Given the description of an element on the screen output the (x, y) to click on. 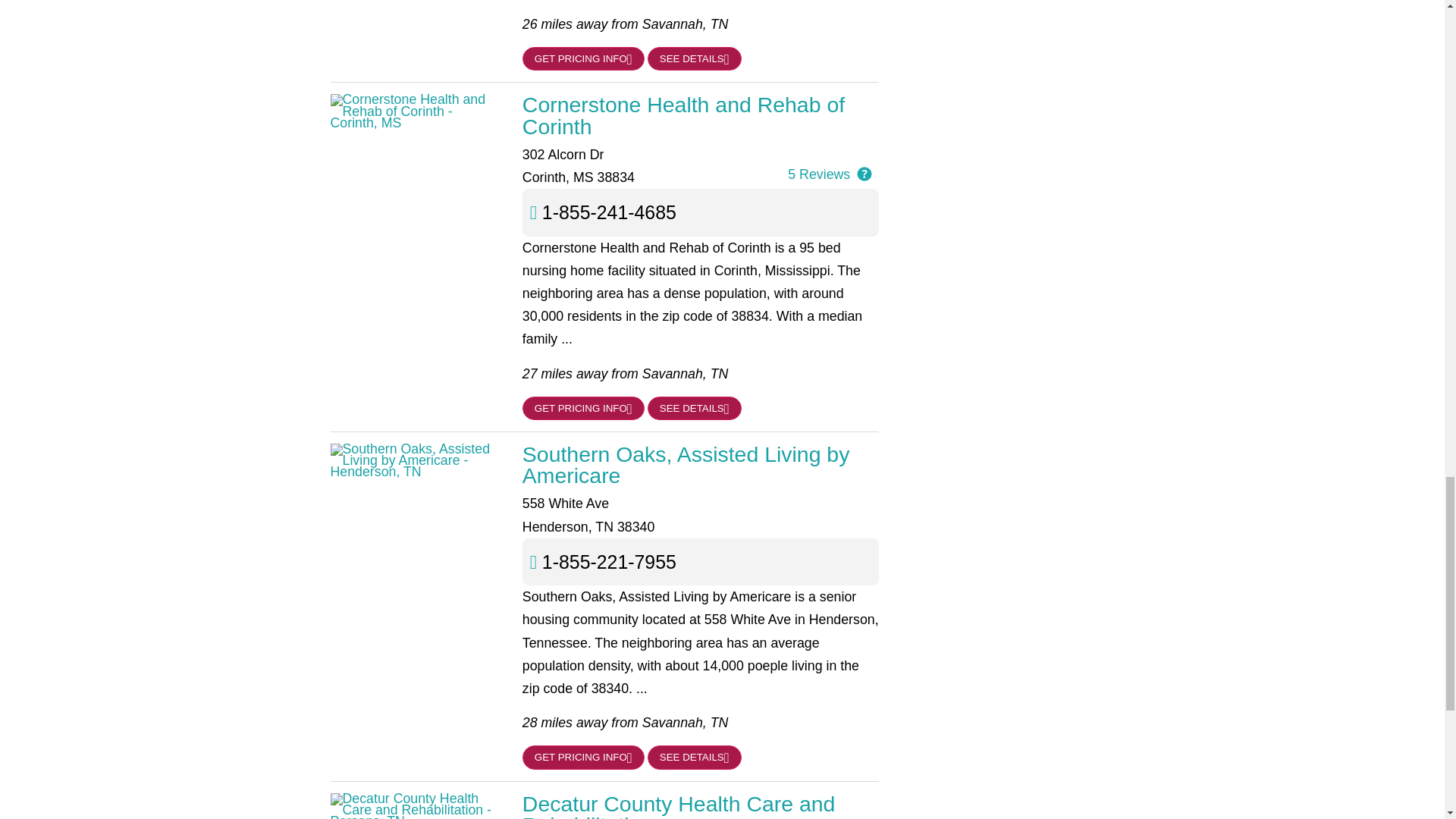
Southern Oaks, Assisted Living by Americare Henderson, TN (700, 464)
Decatur County Health Care and Rehabilitation Parsons, TN (700, 806)
Cornerstone Health and Rehab of Corinth Corinth, MS (700, 115)
